Given the description of an element on the screen output the (x, y) to click on. 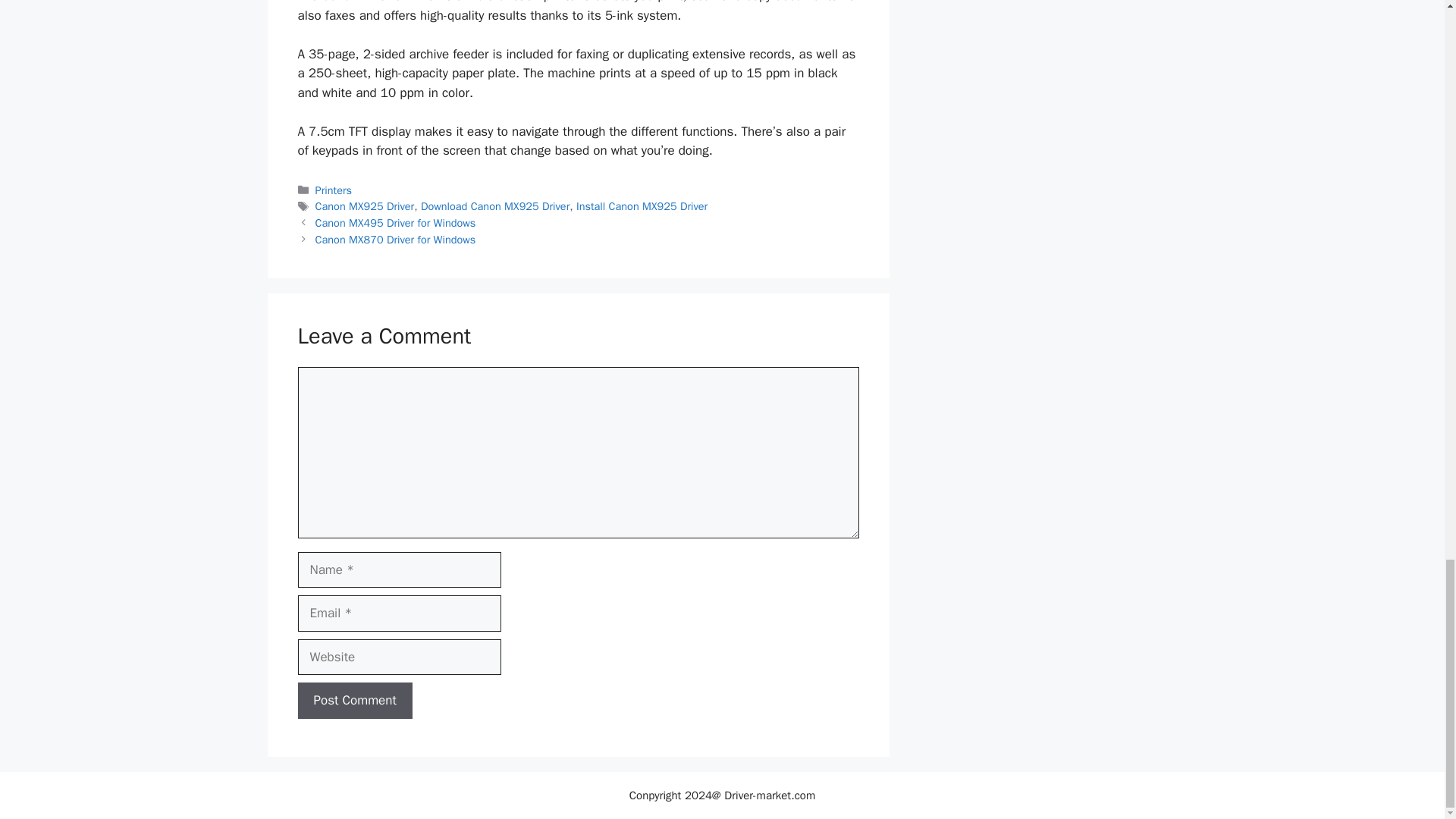
Canon MX925 Driver (364, 205)
Post Comment (354, 700)
Canon MX870 Driver for Windows (395, 239)
Post Comment (354, 700)
Canon (338, 2)
Printers (333, 190)
Install Canon MX925 Driver (641, 205)
Download Canon MX925 Driver (494, 205)
Canon MX495 Driver for Windows (395, 223)
